Given the description of an element on the screen output the (x, y) to click on. 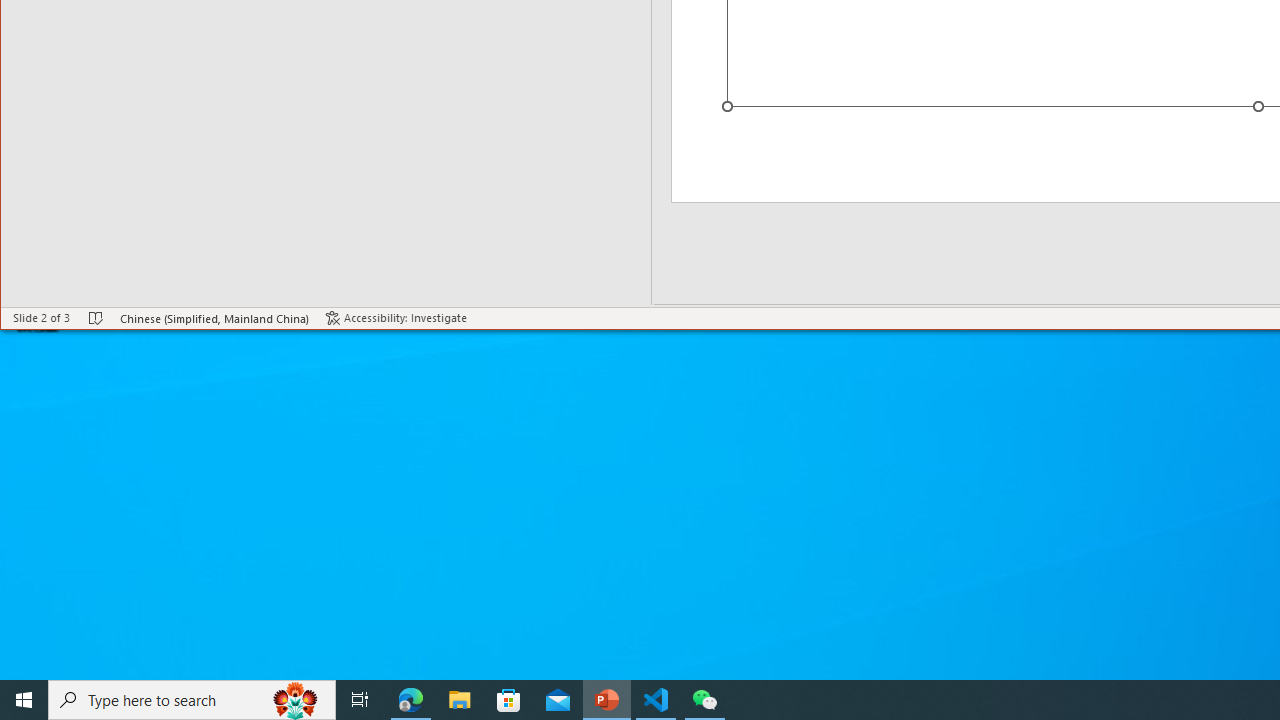
WeChat - 1 running window (704, 699)
